Given the description of an element on the screen output the (x, y) to click on. 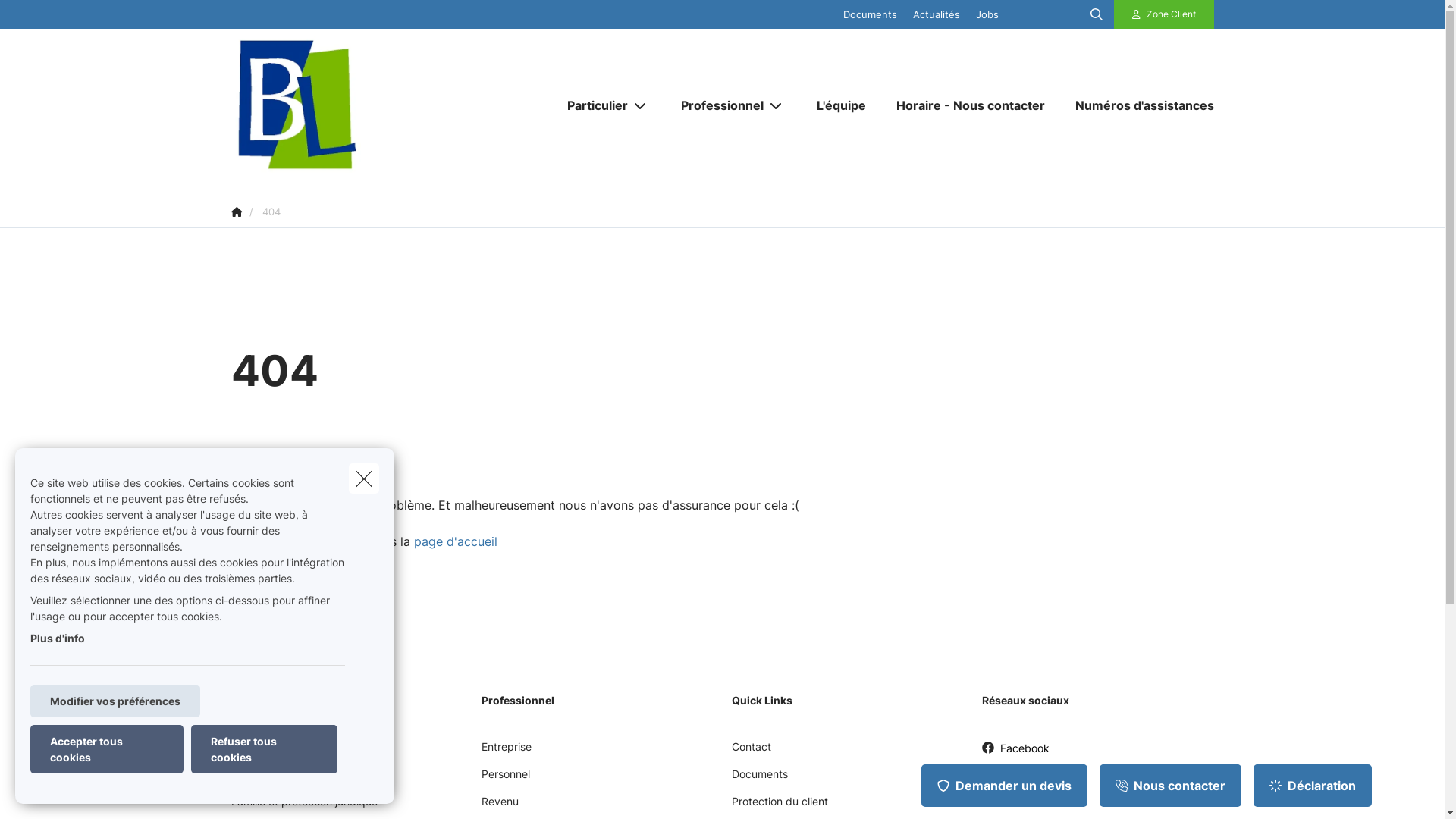
Documents Element type: text (869, 13)
Demander un devis Element type: text (1004, 785)
Documents Element type: text (759, 779)
Zone Client Element type: text (1163, 14)
Nous contacter Element type: text (1170, 785)
Particulier Element type: text (591, 104)
Jobs Element type: text (986, 13)
Facebook Element type: text (1014, 753)
Horaire - Nous contacter Element type: text (970, 104)
Entreprise Element type: text (505, 751)
Professionnel Element type: text (716, 104)
Contact Element type: text (750, 751)
Accepter tous cookies Element type: text (106, 748)
Refuser tous cookies Element type: text (264, 748)
Rechercher Element type: text (54, 18)
Habitation Element type: text (255, 779)
page d'accueil Element type: text (455, 541)
Personnel Element type: text (504, 779)
Plus d'info Element type: text (57, 637)
